Given the description of an element on the screen output the (x, y) to click on. 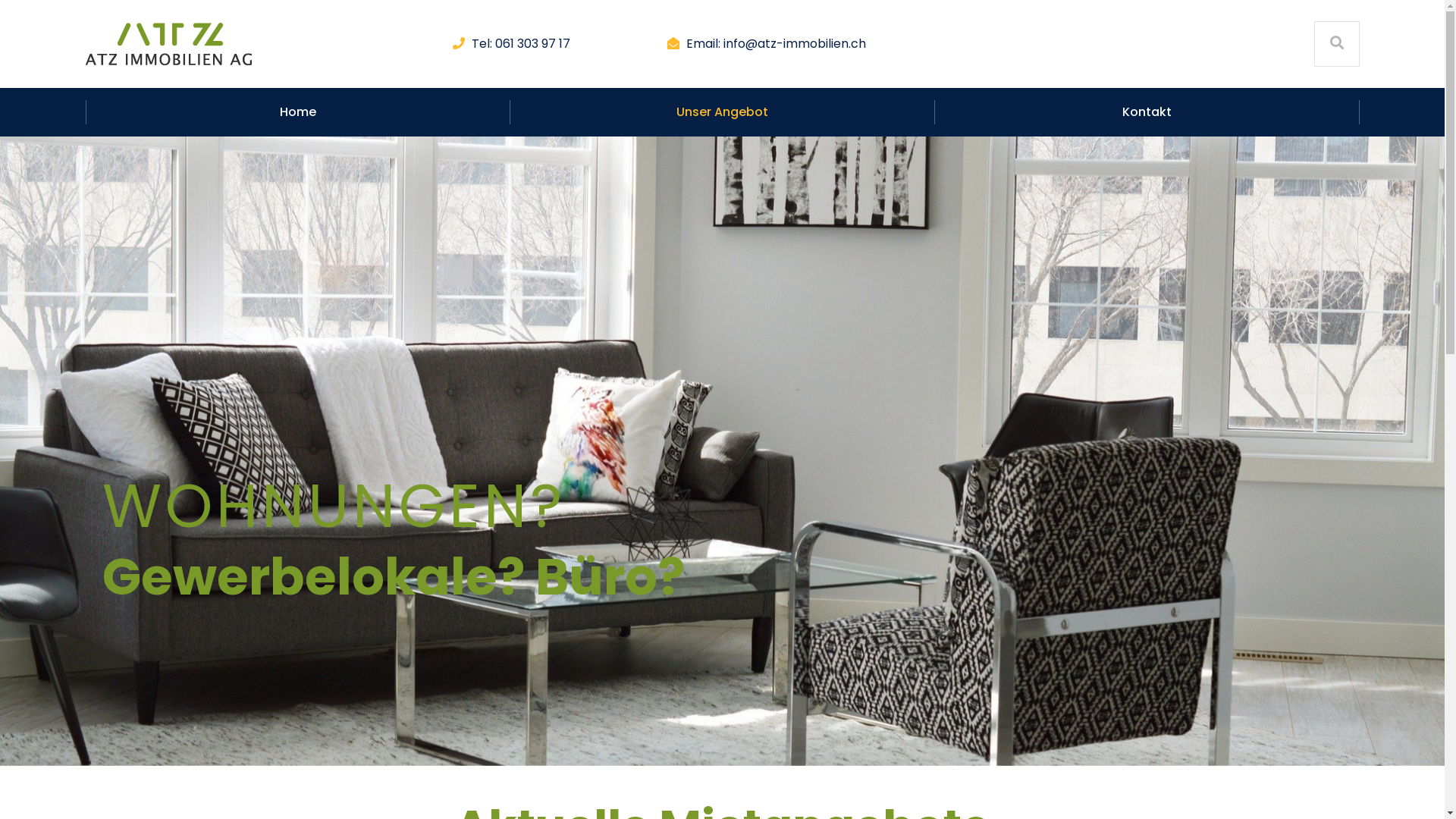
Kontakt Element type: text (1146, 112)
Unser Angebot Element type: text (721, 112)
Email: info@atz-immobilien.ch Element type: text (776, 43)
Tel: 061 303 97 17 Element type: text (520, 43)
Home Element type: text (296, 112)
